Given the description of an element on the screen output the (x, y) to click on. 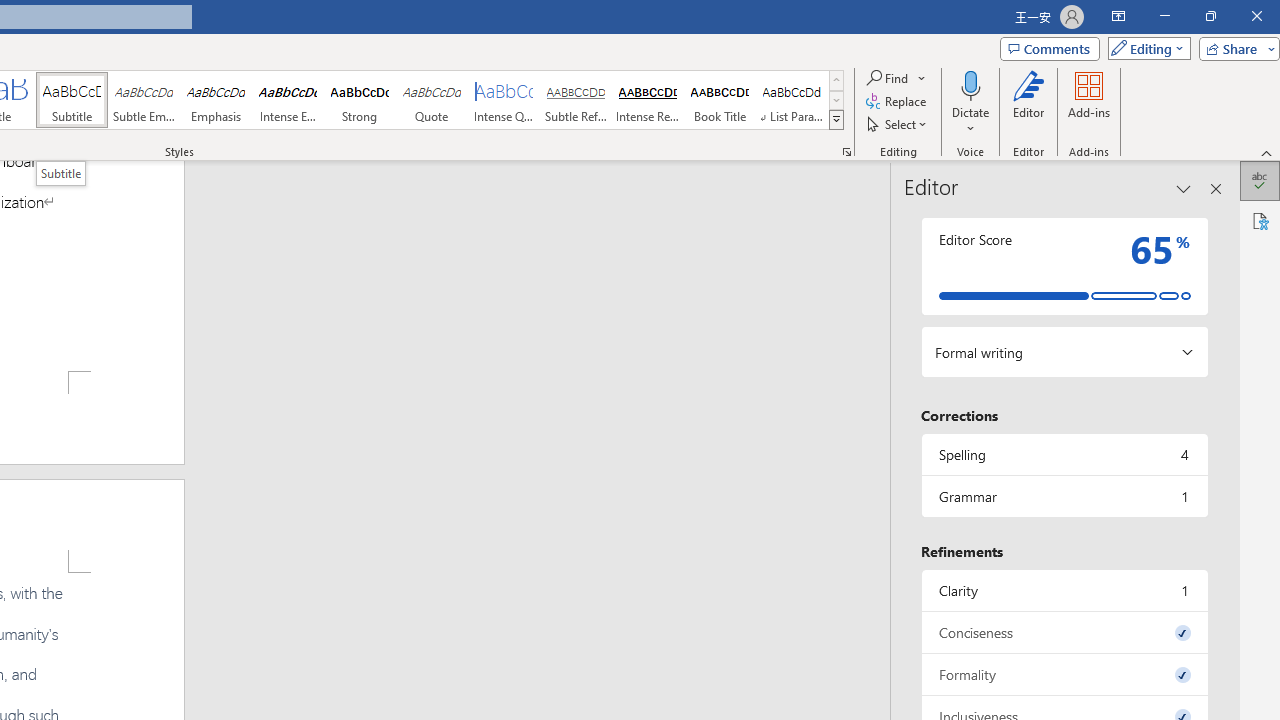
Styles (836, 120)
Subtitle (71, 100)
Subtle Reference (575, 100)
Subtitle (60, 173)
Find (888, 78)
Dictate (970, 84)
Close (1256, 16)
Editing (1144, 47)
Spelling, 4 issues. Press space or enter to review items. (1064, 454)
Select (898, 124)
Book Title (719, 100)
Intense Reference (647, 100)
Quote (431, 100)
Minimize (1164, 16)
